Given the description of an element on the screen output the (x, y) to click on. 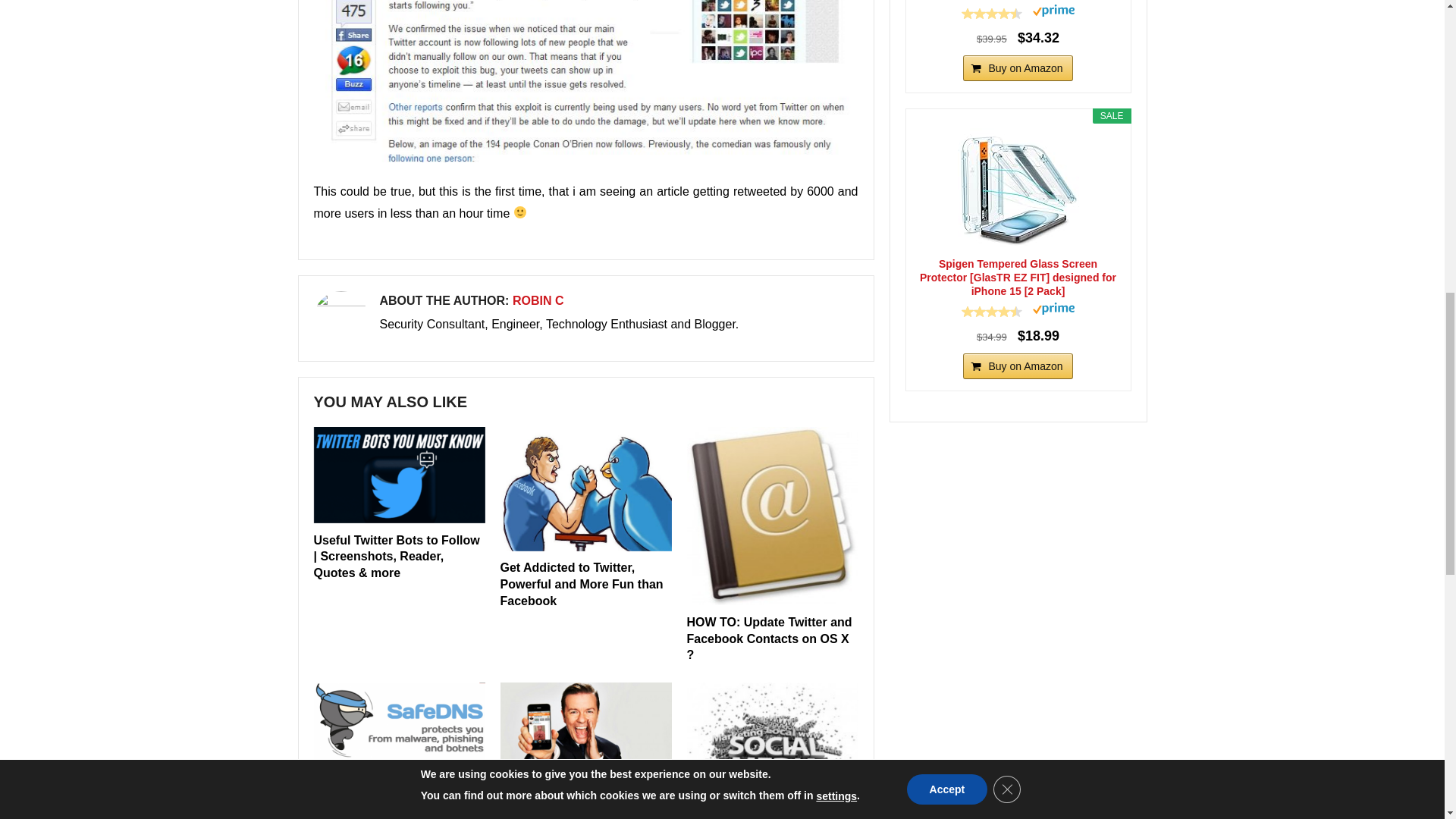
ROBIN C (538, 300)
